Given the description of an element on the screen output the (x, y) to click on. 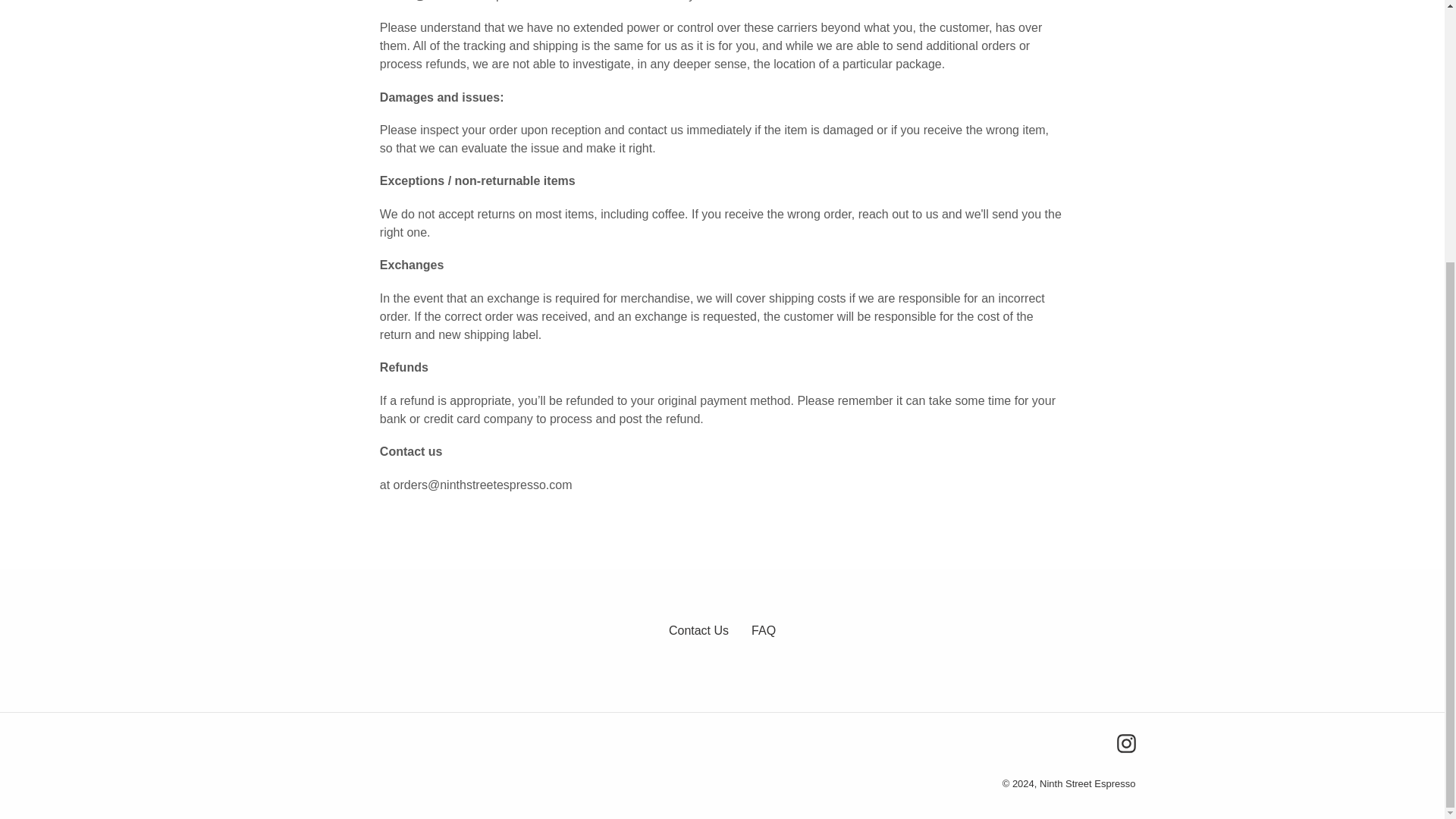
FAQ (763, 630)
Contact Us (698, 630)
Instagram (1125, 742)
Ninth Street Espresso (1087, 783)
